Given the description of an element on the screen output the (x, y) to click on. 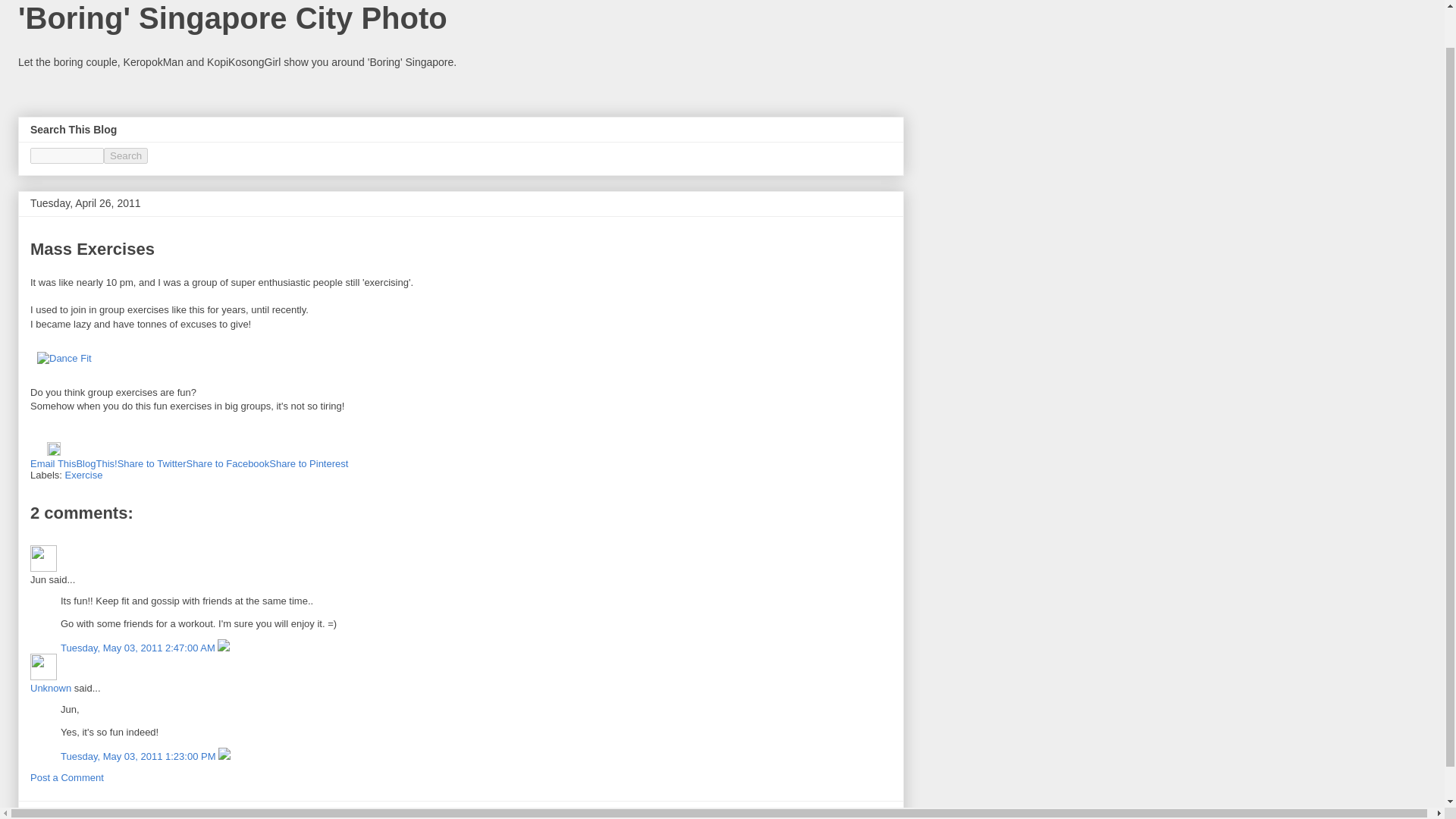
Email This (52, 463)
Email Post (38, 451)
search (125, 155)
Post a Comment (66, 777)
Unknown (43, 666)
Edit Post (53, 451)
Share to Facebook (227, 463)
Search (125, 155)
Tuesday, May 03, 2011 2:47:00 AM (138, 647)
Share to Twitter (151, 463)
